Given the description of an element on the screen output the (x, y) to click on. 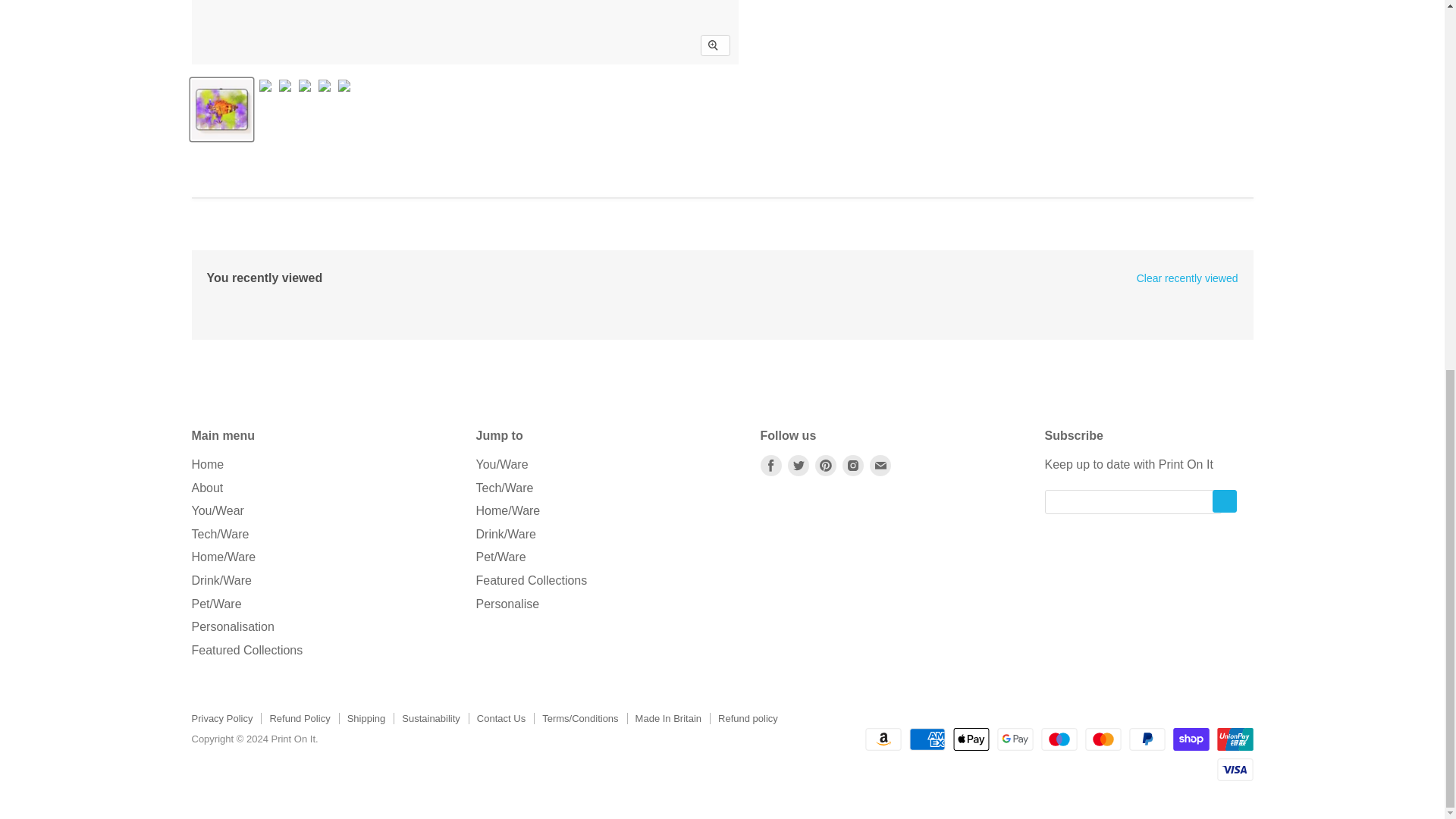
Instagram (852, 465)
Email (879, 465)
Pinterest (824, 465)
Facebook (770, 465)
Twitter (797, 465)
